Given the description of an element on the screen output the (x, y) to click on. 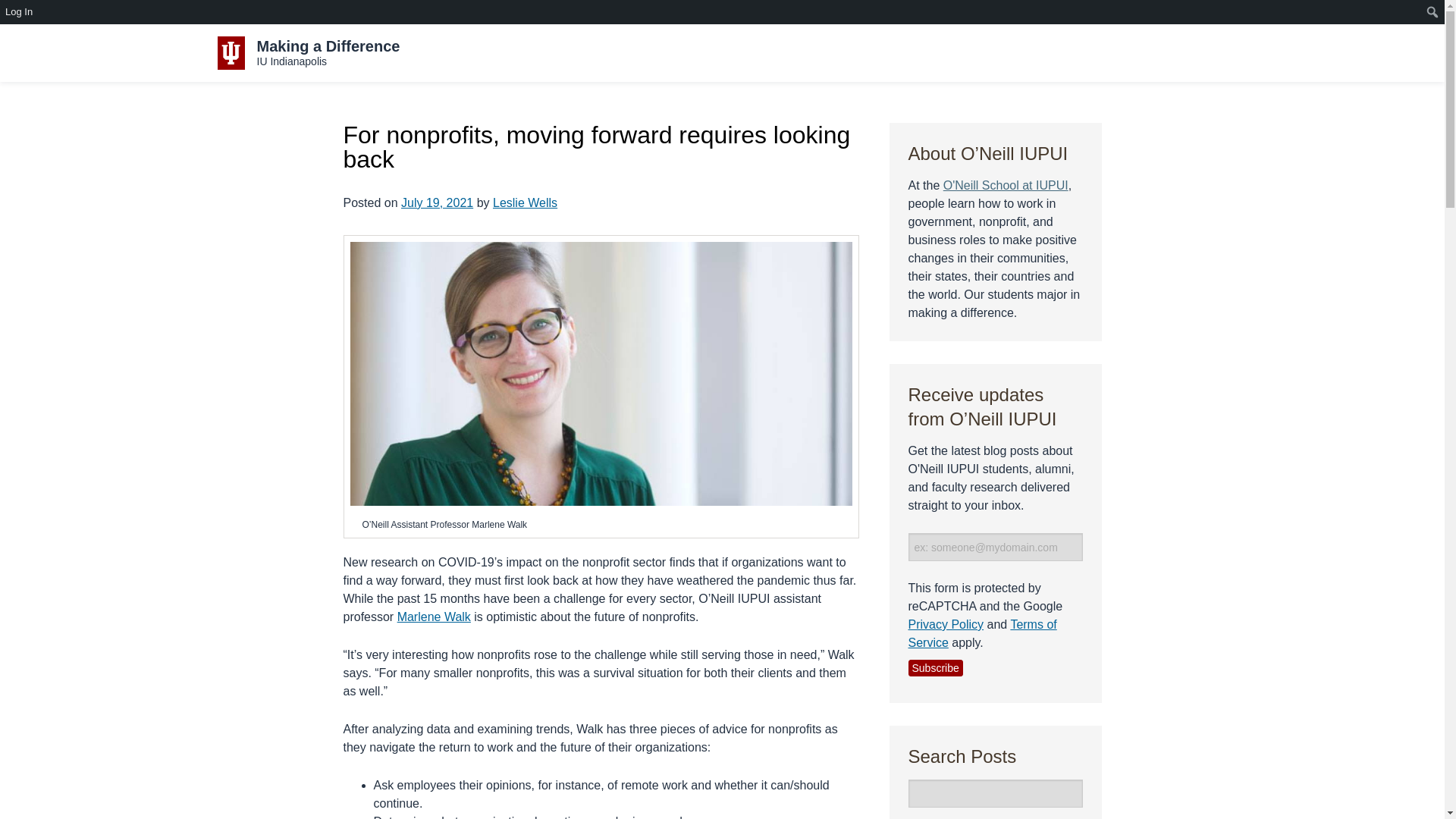
July 19, 2021 (437, 202)
Subscribe (935, 668)
Privacy Policy (946, 624)
Subscribe (935, 668)
Marlene Walk (433, 616)
Terms of Service (982, 633)
Leslie Wells (525, 202)
O'Neill School at IUPUI (307, 52)
